Given the description of an element on the screen output the (x, y) to click on. 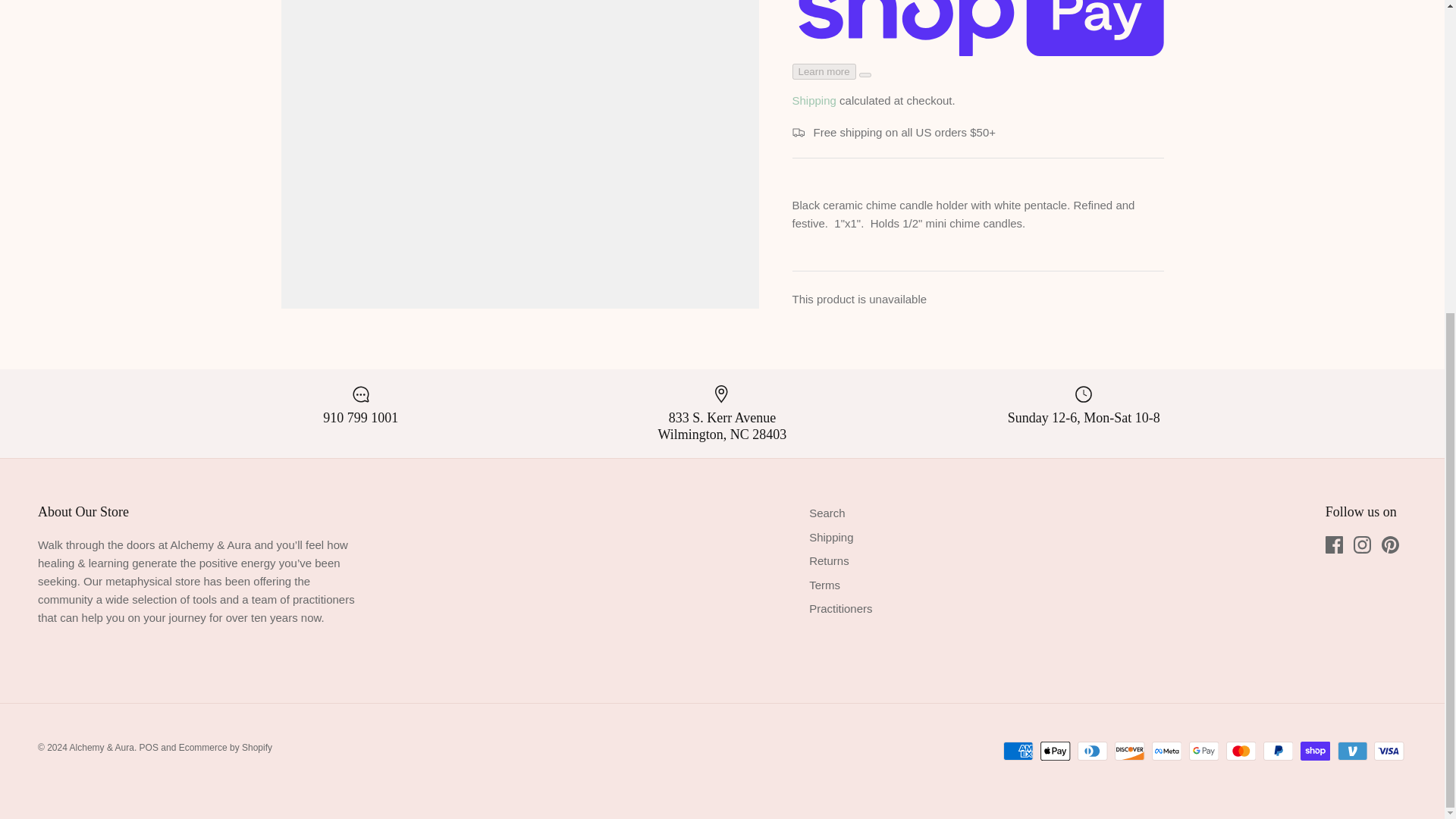
Pinterest (1390, 544)
Google Pay (1203, 751)
Facebook (1333, 544)
Discover (1129, 751)
Instagram (1362, 544)
Diners Club (1092, 751)
Mastercard (1240, 751)
American Express (1018, 751)
Apple Pay (1055, 751)
Meta Pay (1166, 751)
